Given the description of an element on the screen output the (x, y) to click on. 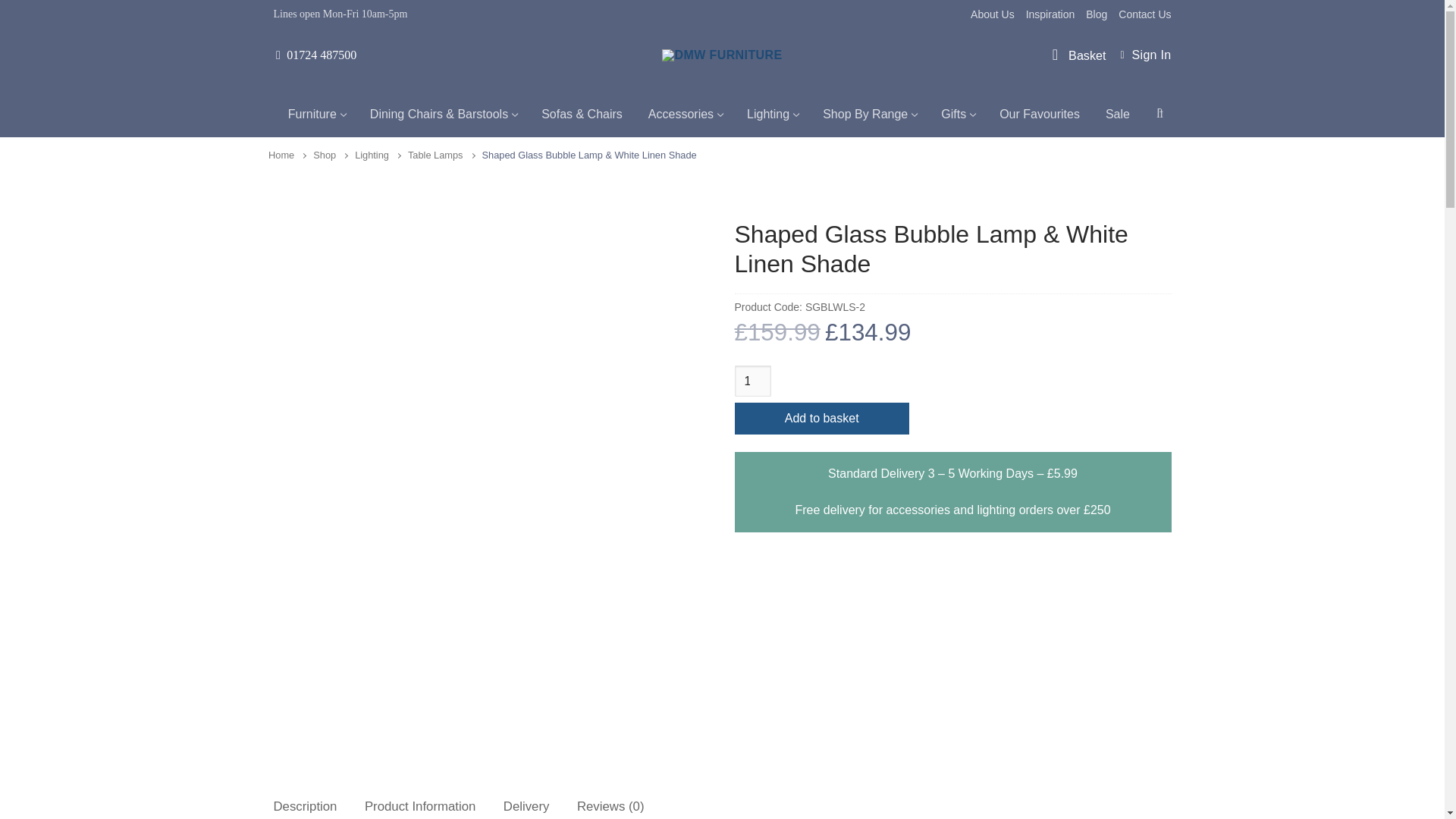
About Us (992, 14)
01724 487500 (315, 122)
Sign In (314, 55)
Inspiration (1144, 55)
Contact Us (1050, 14)
1 (1144, 14)
Sign In (751, 381)
Blog (1144, 55)
Basket (1096, 14)
